Given the description of an element on the screen output the (x, y) to click on. 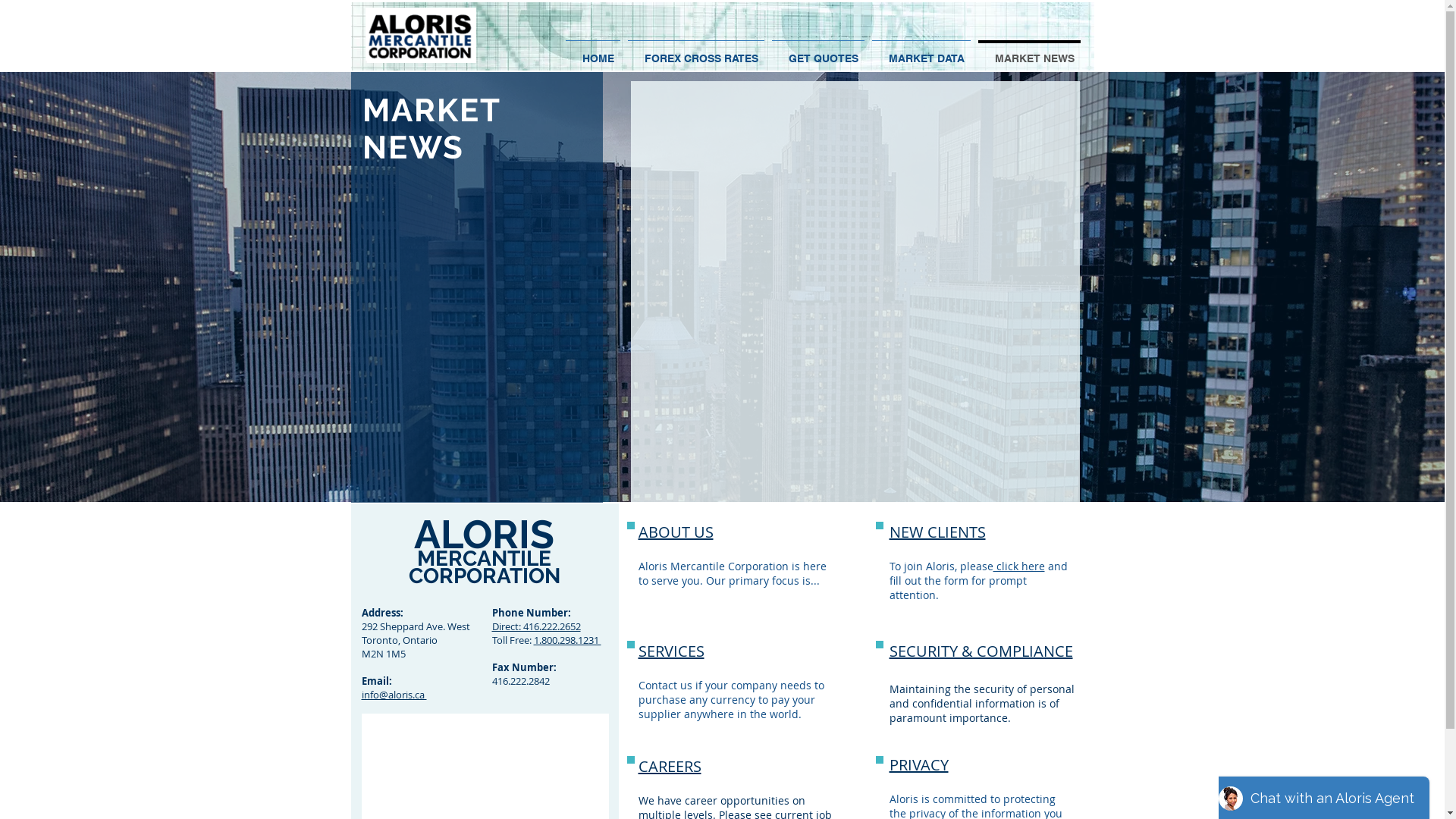
NEW CLIENTS Element type: text (936, 531)
click here Element type: text (1018, 565)
MARKET DATA Element type: text (920, 51)
AnyNews Element type: hover (853, 288)
GET QUOTES Element type: text (817, 51)
Direct: 416.222.2652 Element type: text (535, 626)
SECURITY & COMPLIANCE Element type: text (980, 650)
MARKET NEWS Element type: text (1028, 51)
info@aloris.ca  Element type: text (393, 694)
PRIVACY Element type: text (917, 764)
Site Search Element type: hover (1002, 20)
SERVICES Element type: text (671, 650)
FOREX CROSS RATES Element type: text (695, 51)
ABOUT US Element type: text (675, 531)
HOME Element type: text (592, 51)
1.800.298.1231  Element type: text (567, 639)
CAREERS Element type: text (669, 766)
